Given the description of an element on the screen output the (x, y) to click on. 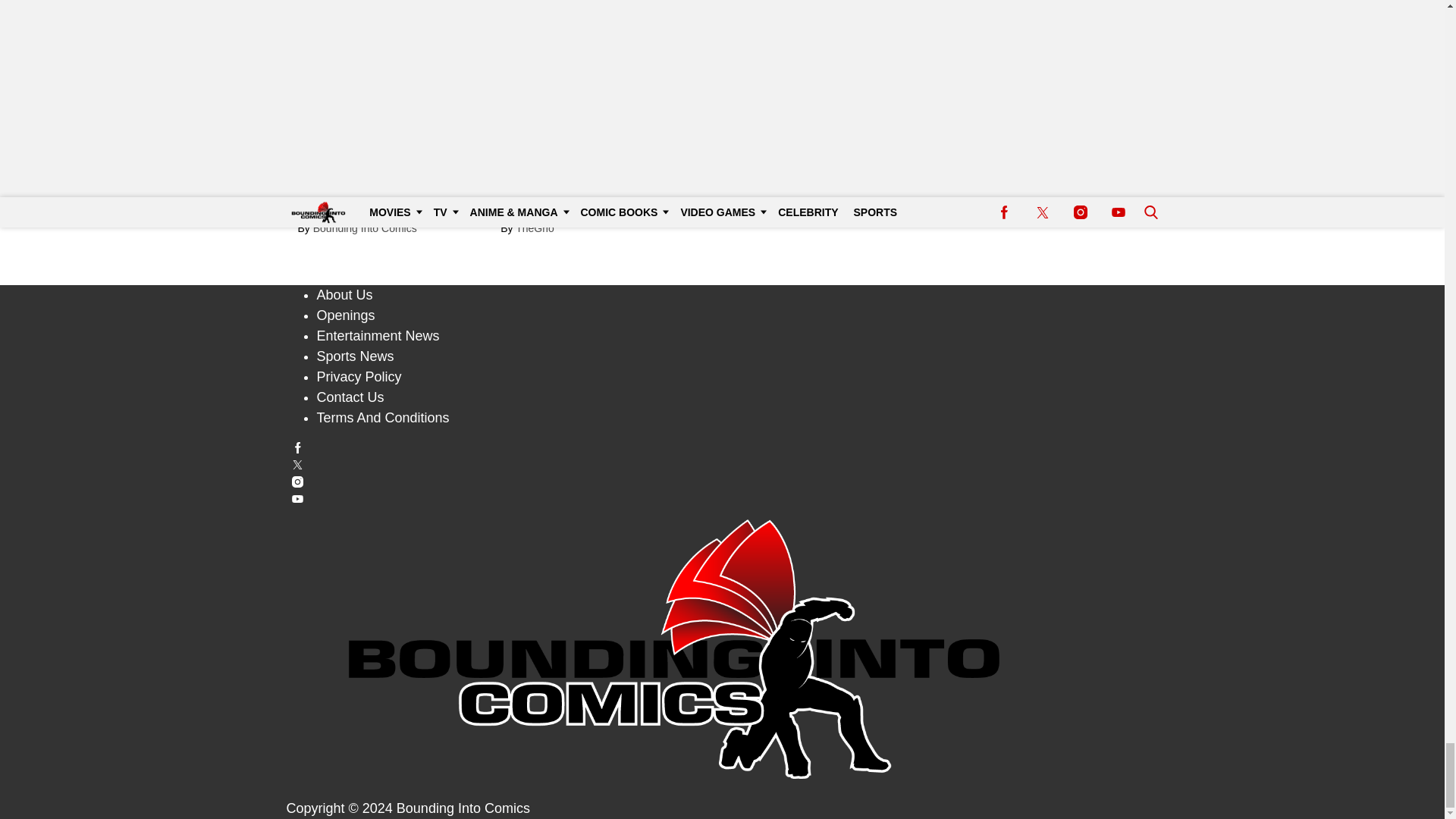
Follow us on Facebook (722, 447)
Subscribe to our YouTube channel (722, 498)
Follow us on Twitter (722, 464)
Follow us on Instagram (722, 481)
